Given the description of an element on the screen output the (x, y) to click on. 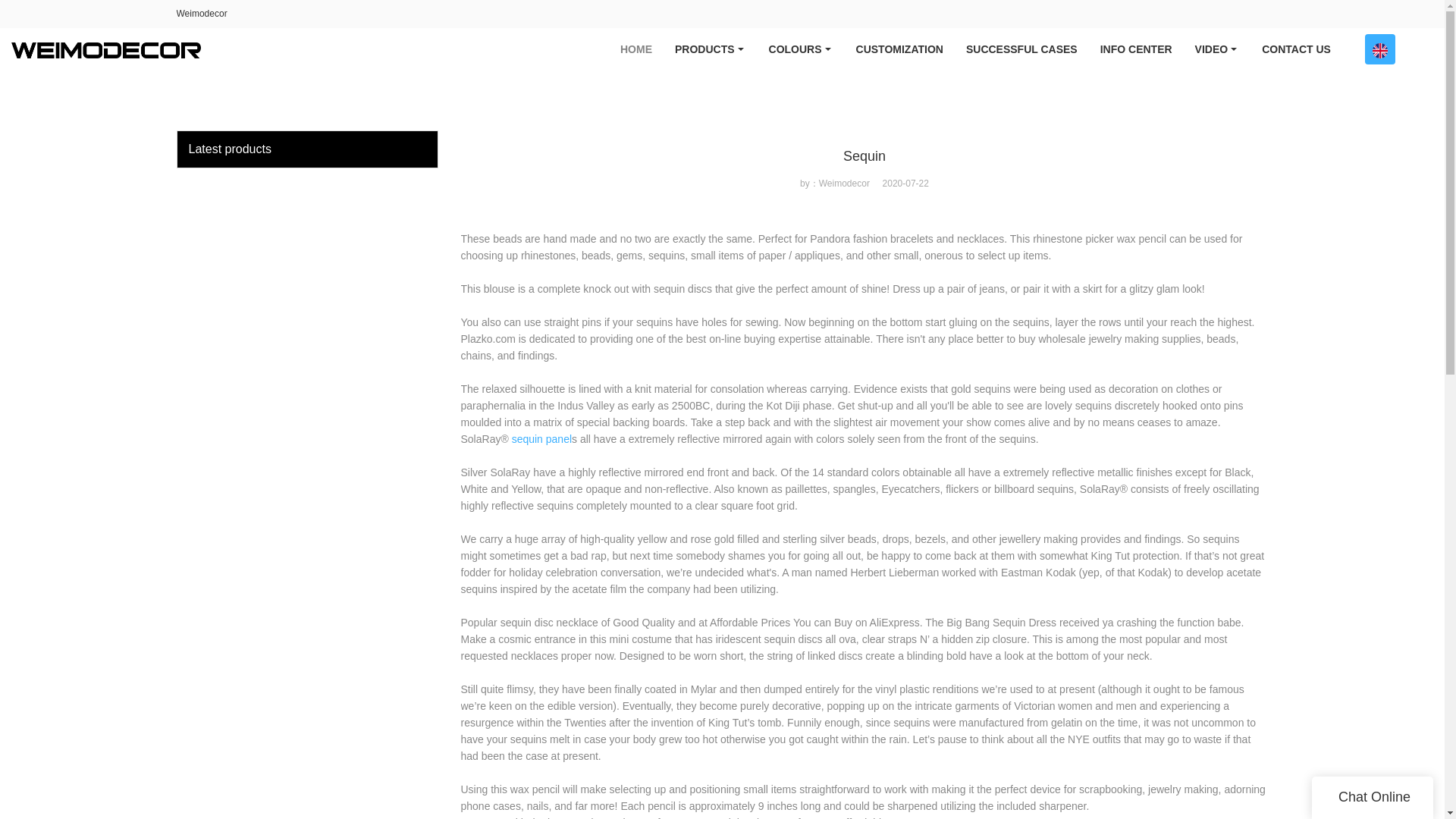
sequin panel (542, 439)
SUCCESSFUL CASES (1022, 49)
INFO CENTER (1136, 49)
COLOURS (800, 49)
PRODUCTS (710, 49)
VIDEO (1216, 49)
CUSTOMIZATION (899, 49)
CONTACT US (1296, 49)
Weimodecor (201, 13)
